Given the description of an element on the screen output the (x, y) to click on. 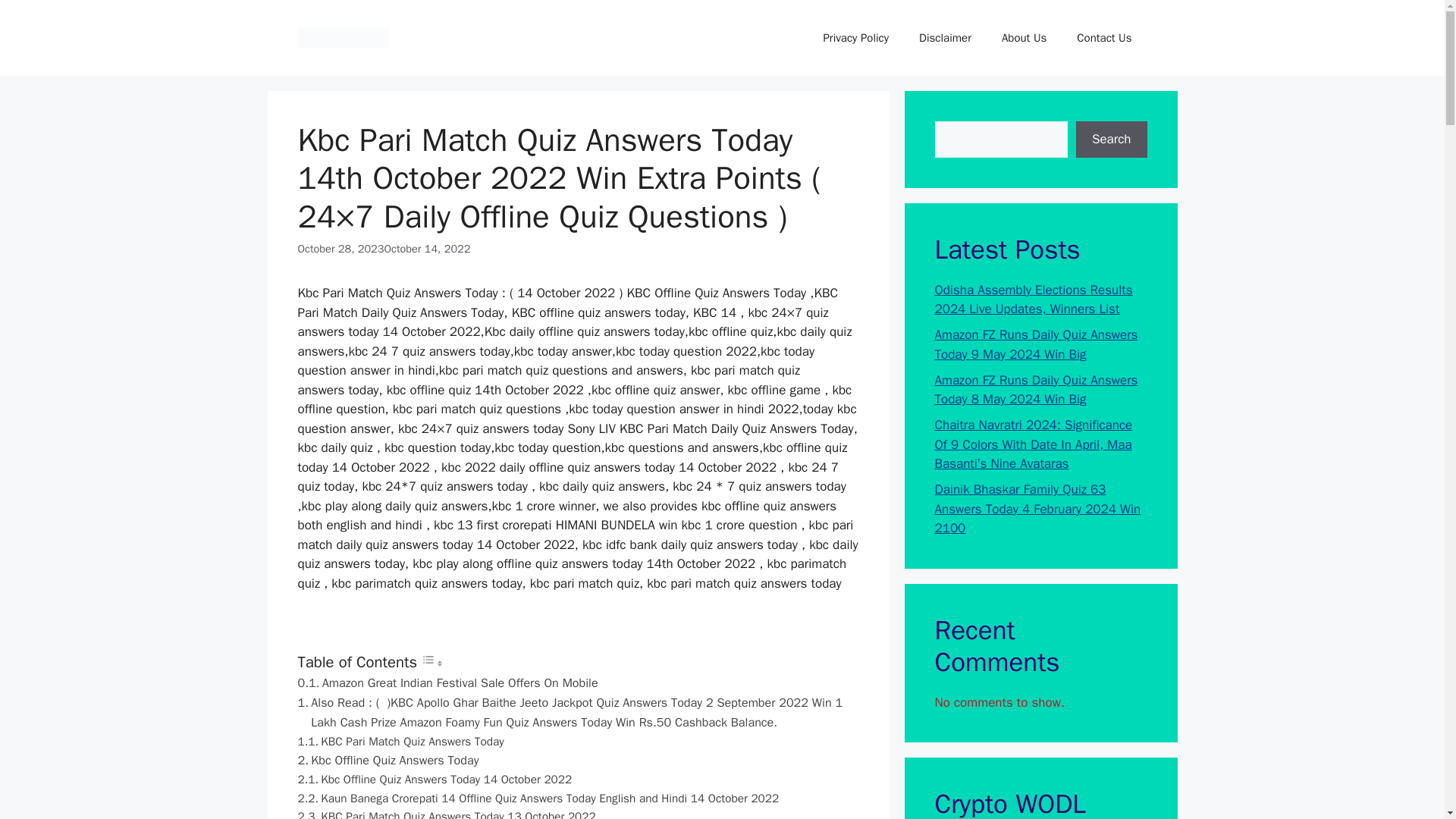
Kbc Offline Quiz Answers Today 14 October 2022 (434, 779)
Privacy Policy (856, 37)
KBC Pari Match Quiz Answers Today 13 October 2022 (446, 813)
Amazon Great Indian Festival Sale Offers On Mobile (446, 682)
Amazon Great Indian Festival Sale Offers On Mobile (446, 682)
KBC Pari Match Quiz Answers Today  (401, 741)
KBC Pari Match Quiz Answers Today 13 October 2022 (446, 813)
Kbc Offline Quiz Answers Today (388, 760)
Contact Us (1104, 37)
Kbc Offline Quiz Answers Today 14 October 2022 (434, 779)
Kbc Offline Quiz Answers Today (388, 760)
Disclaimer (945, 37)
